Given the description of an element on the screen output the (x, y) to click on. 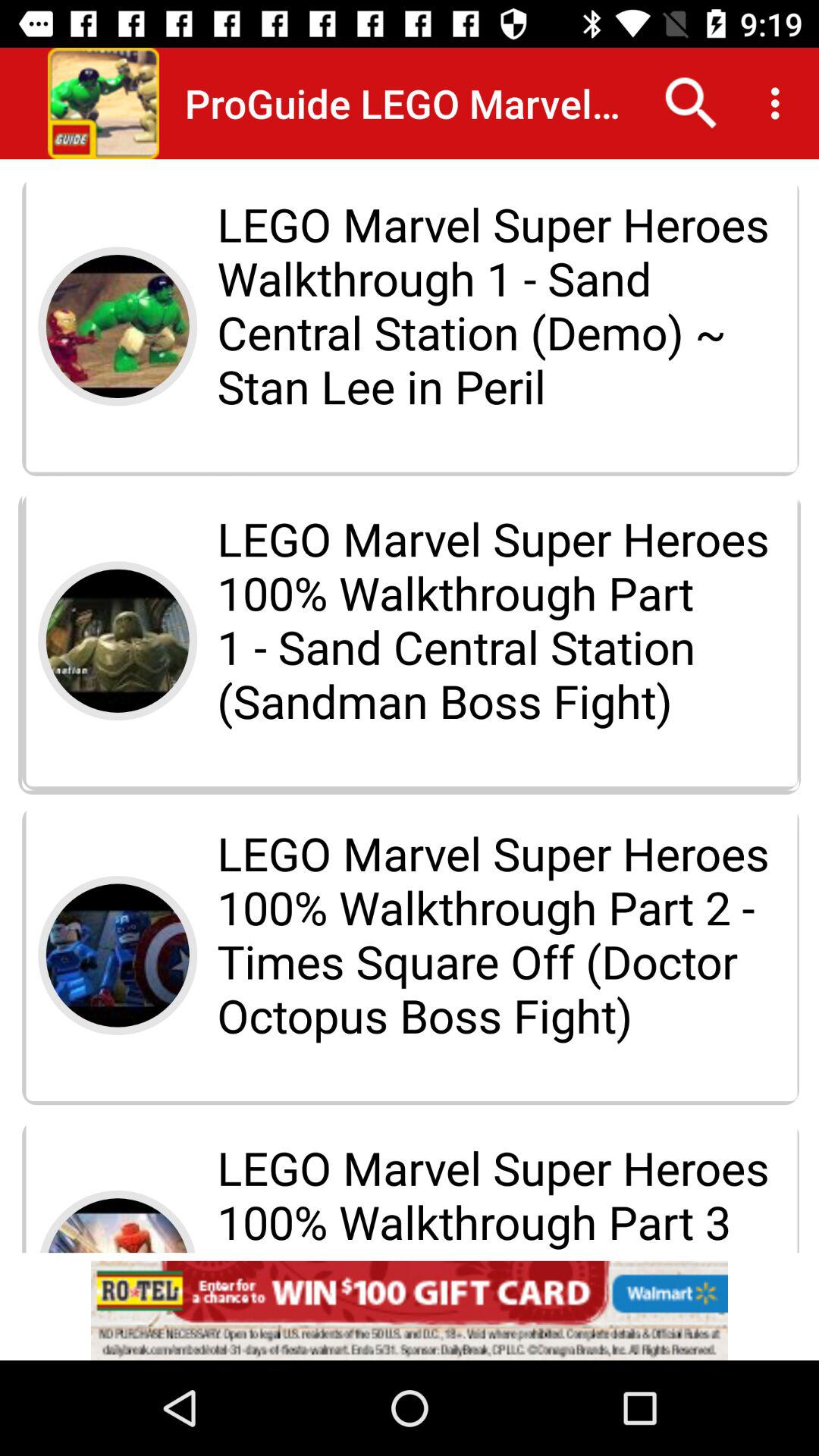
advertisement (409, 1310)
